Given the description of an element on the screen output the (x, y) to click on. 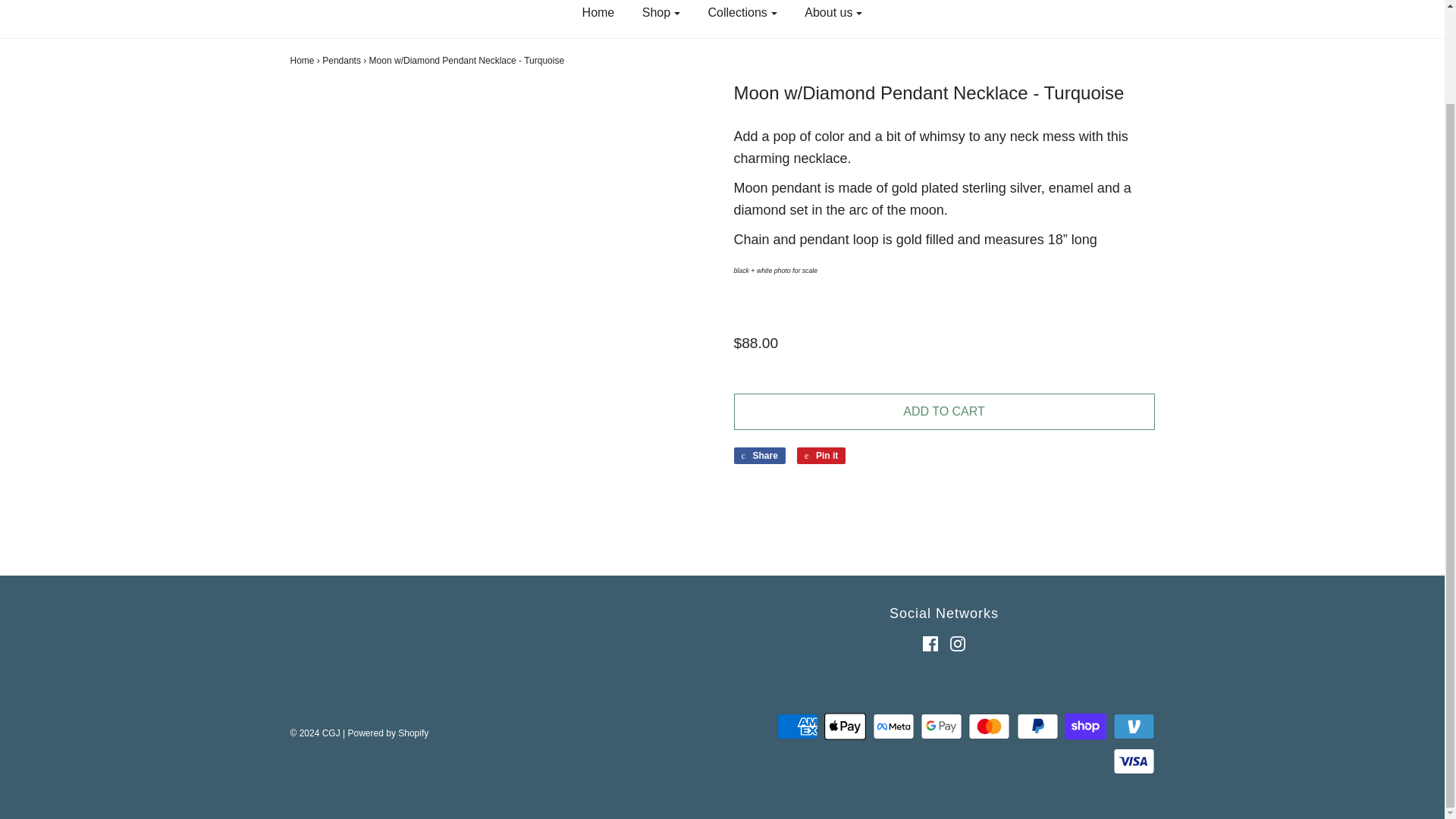
Back to the frontpage (301, 60)
Collections (743, 15)
Google Pay (941, 726)
PayPal (1037, 726)
Visa (1133, 761)
American Express (797, 726)
Venmo (1133, 726)
Meta Pay (893, 726)
Apple Pay (845, 726)
Home (598, 15)
Shop Pay (1085, 726)
Instagram icon (957, 643)
Shop (660, 15)
Mastercard (989, 726)
Facebook icon (930, 643)
